Given the description of an element on the screen output the (x, y) to click on. 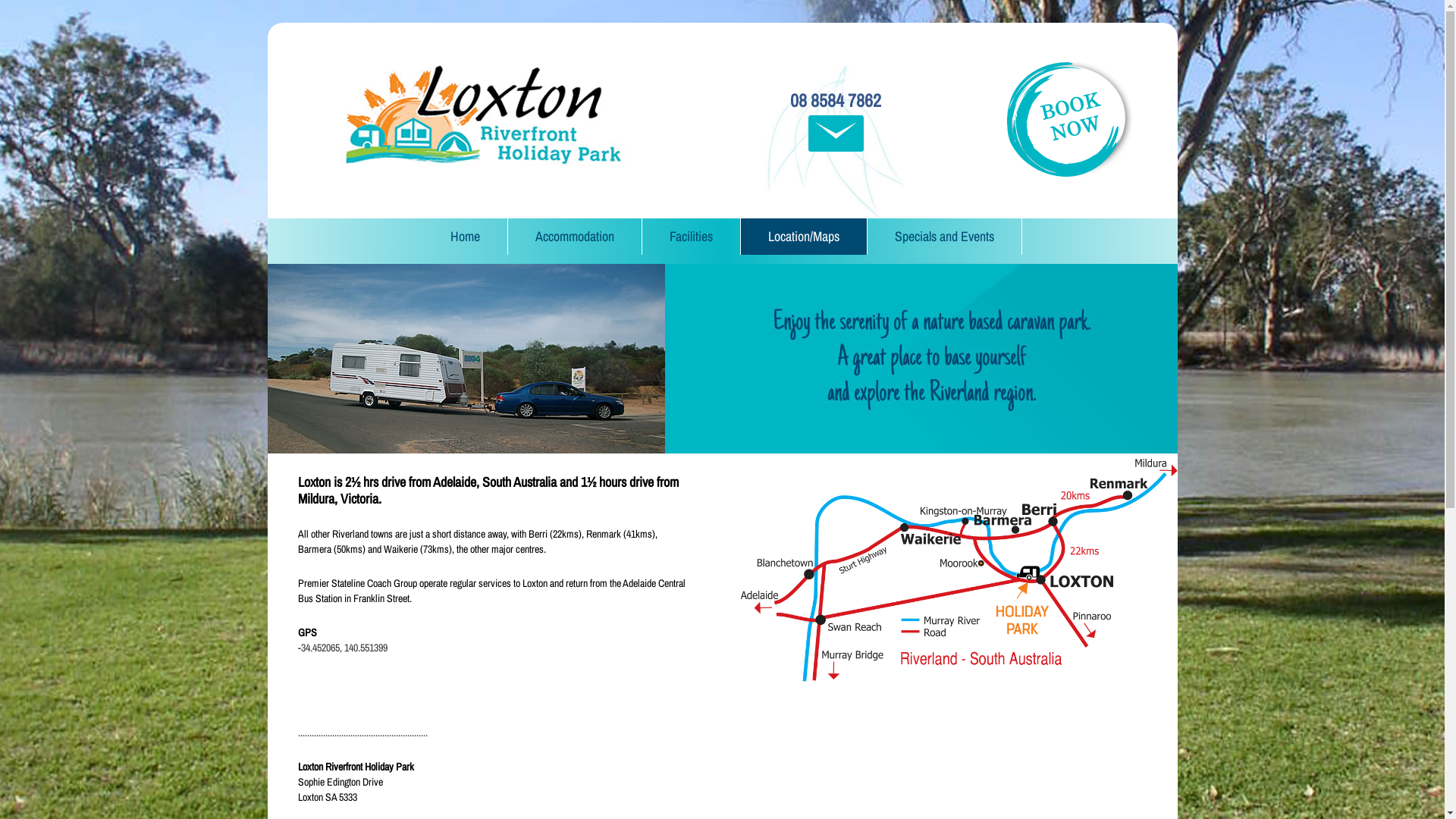
Specials and Events Element type: text (944, 236)
Home Element type: text (465, 236)
Accommodation Element type: text (574, 236)
Facilities Element type: text (690, 236)
Location/Maps Element type: text (803, 236)
